Given the description of an element on the screen output the (x, y) to click on. 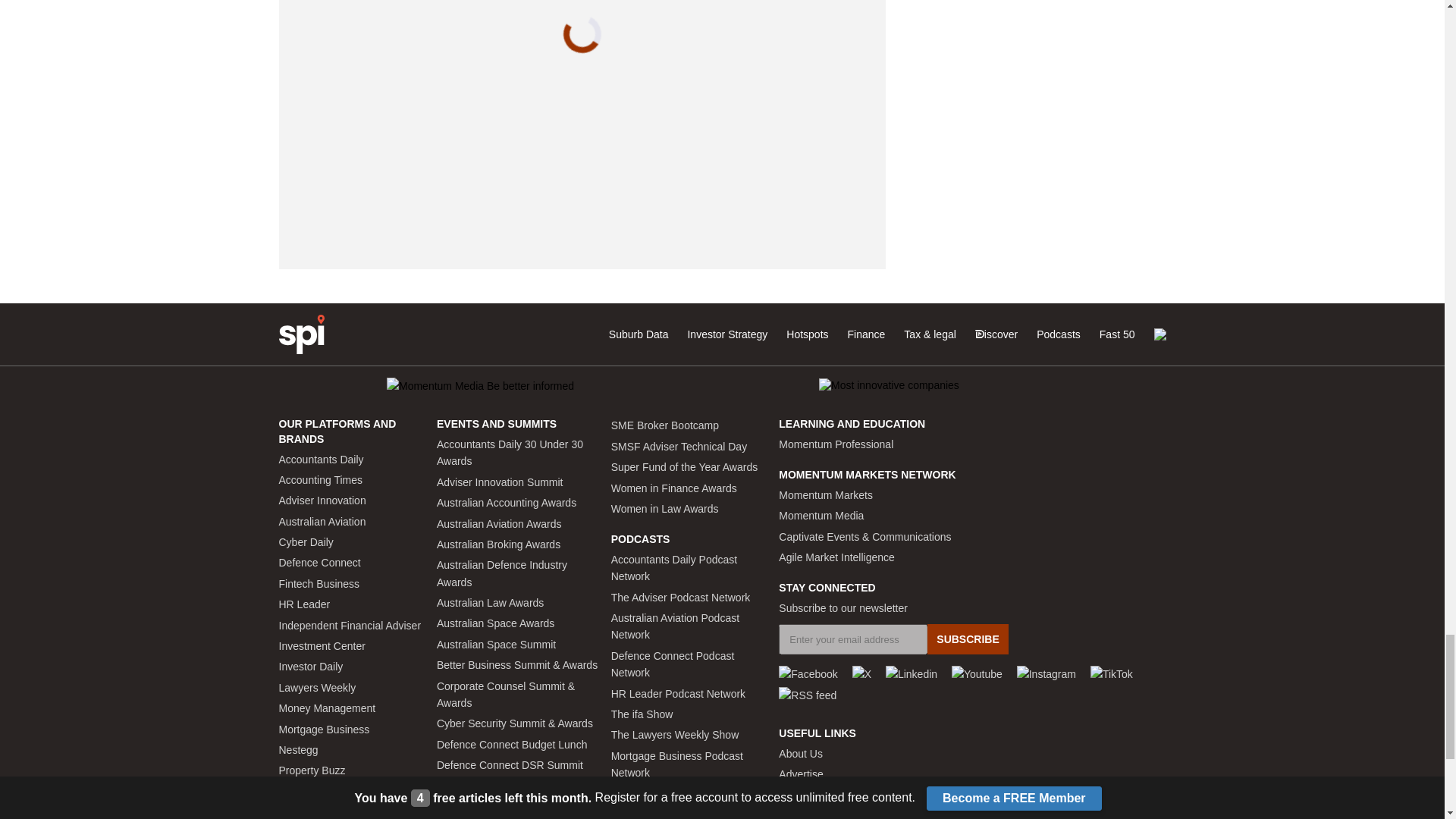
SUBSCRIBE (967, 639)
